Given the description of an element on the screen output the (x, y) to click on. 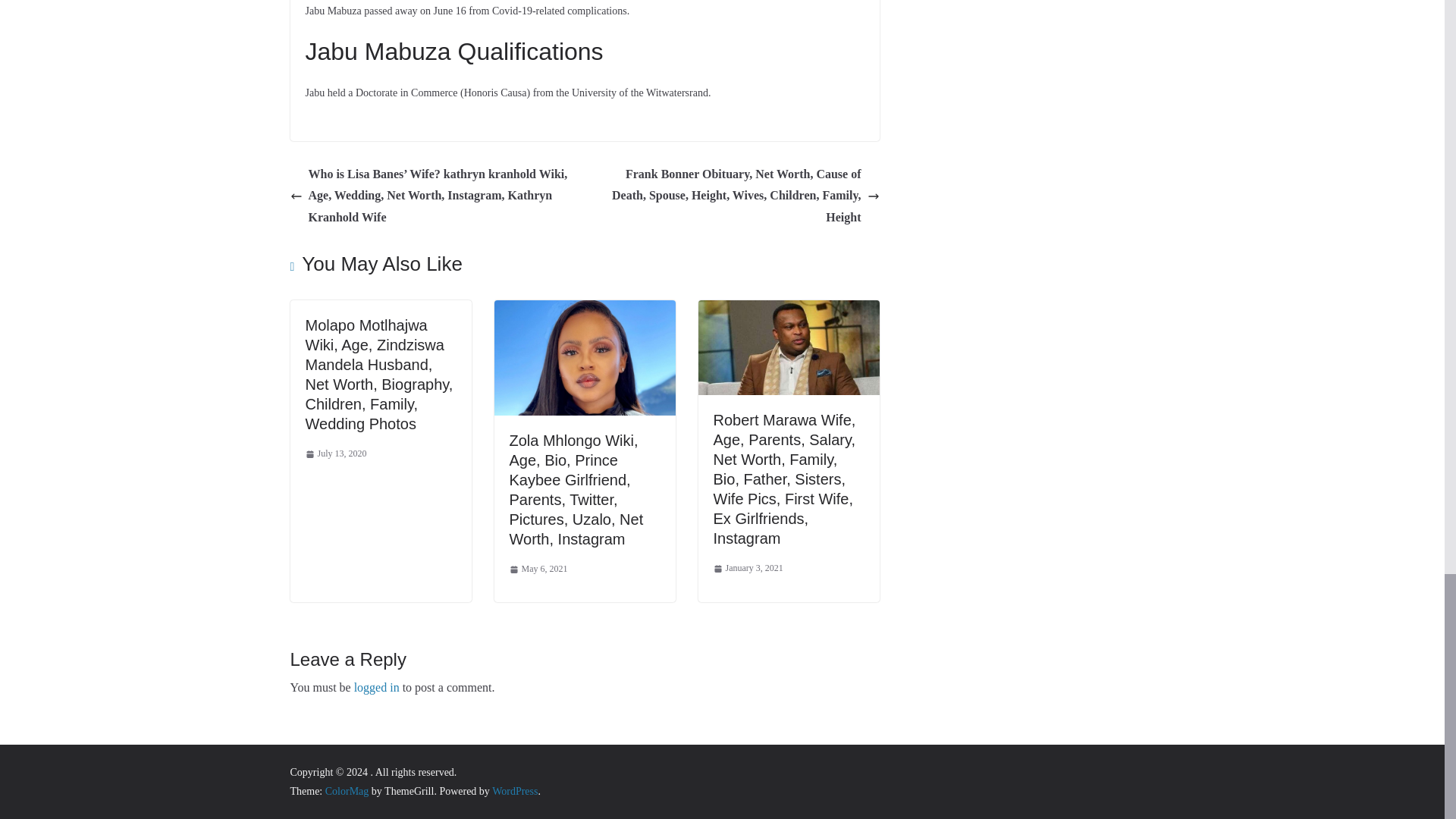
11:44 am (335, 453)
logged in (375, 686)
July 13, 2020 (335, 453)
January 3, 2021 (748, 568)
